Given the description of an element on the screen output the (x, y) to click on. 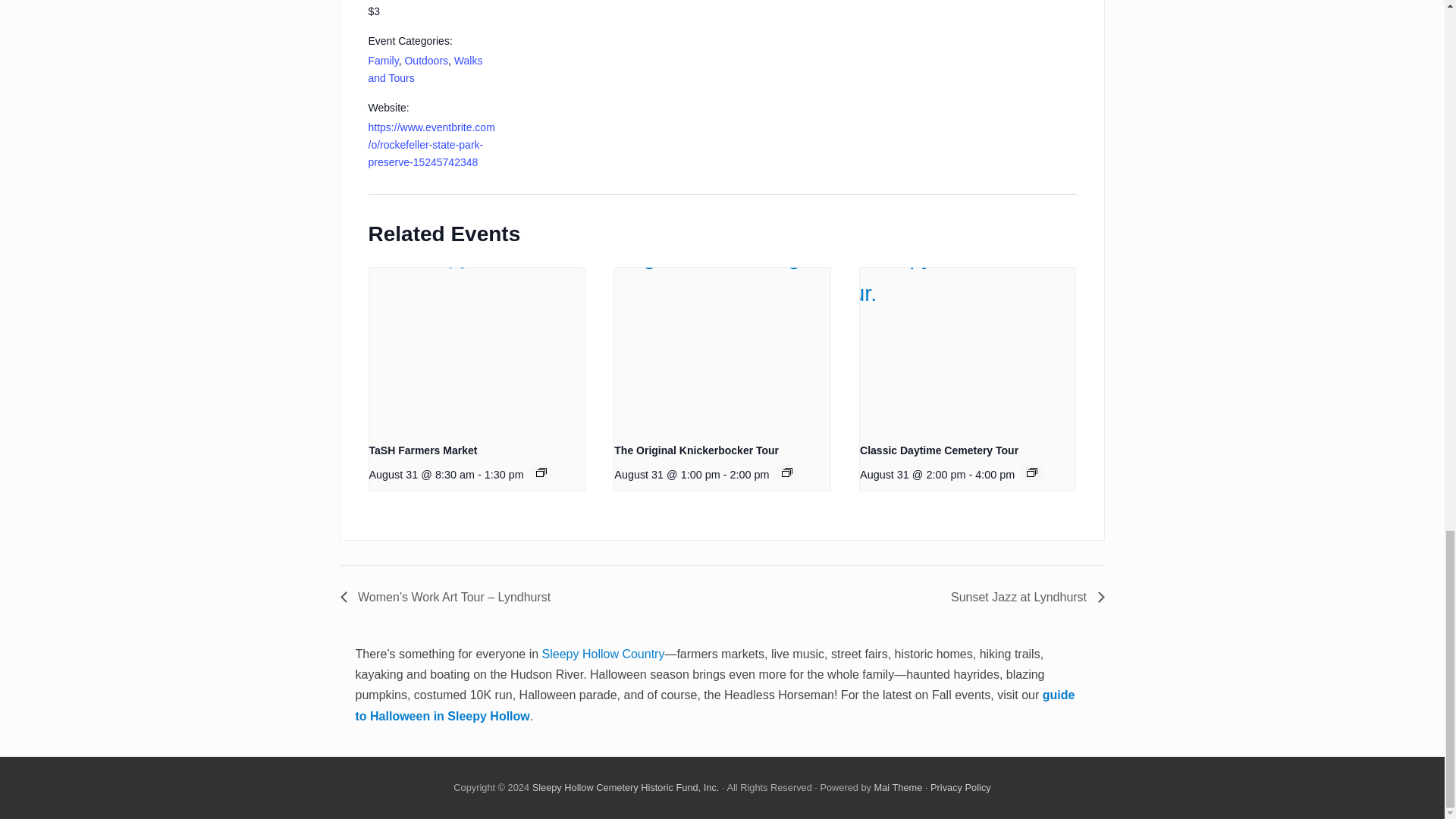
Event Series (1031, 471)
Visit Sleepy Hollow (625, 787)
Visit Sleepy Hollow (960, 787)
Event Series (786, 471)
Event Series (541, 471)
